Given the description of an element on the screen output the (x, y) to click on. 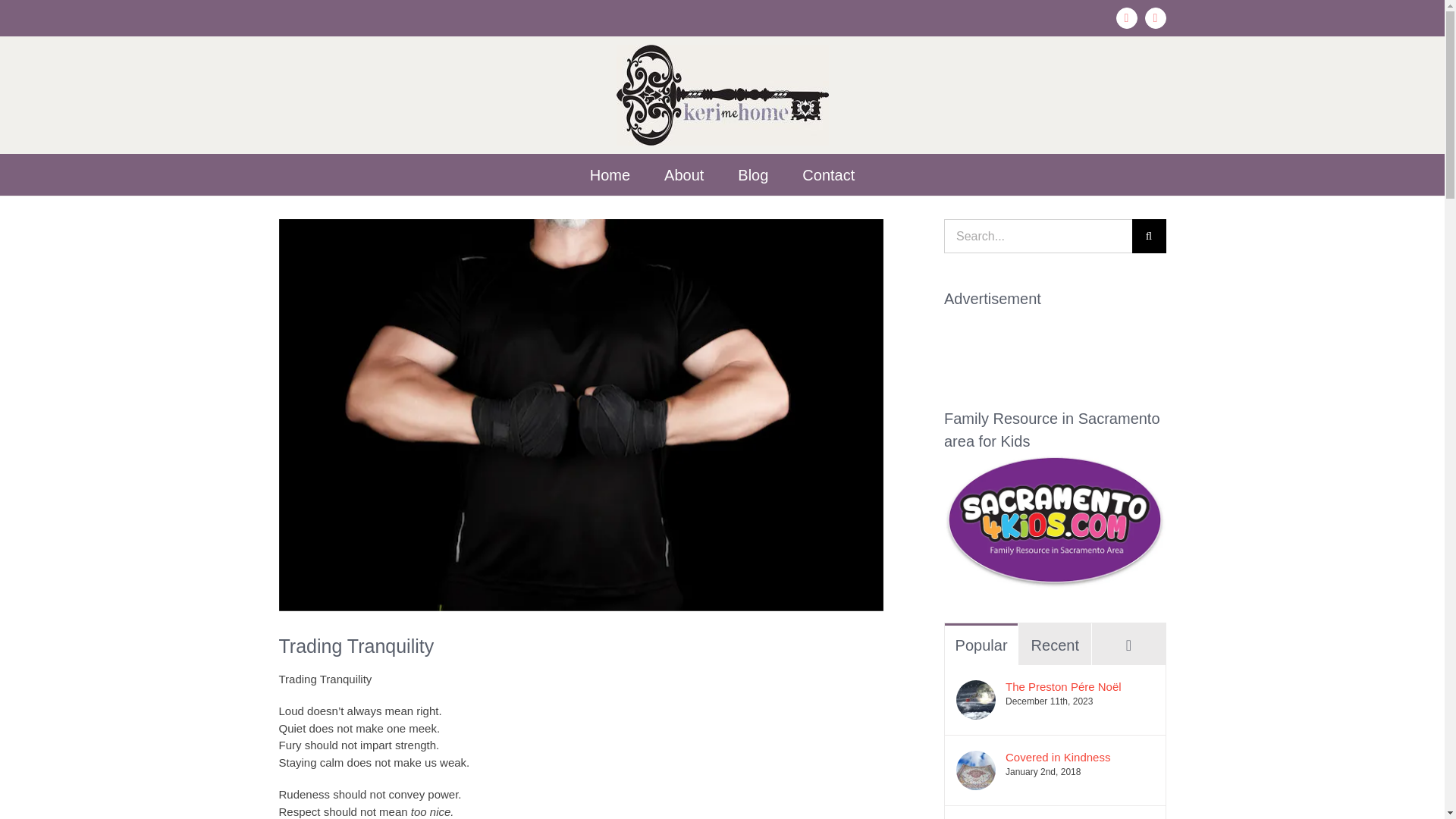
Contact (828, 174)
X (1155, 17)
Facebook (1126, 17)
Facebook (1126, 17)
X (1155, 17)
About (683, 174)
Home (609, 174)
